Given the description of an element on the screen output the (x, y) to click on. 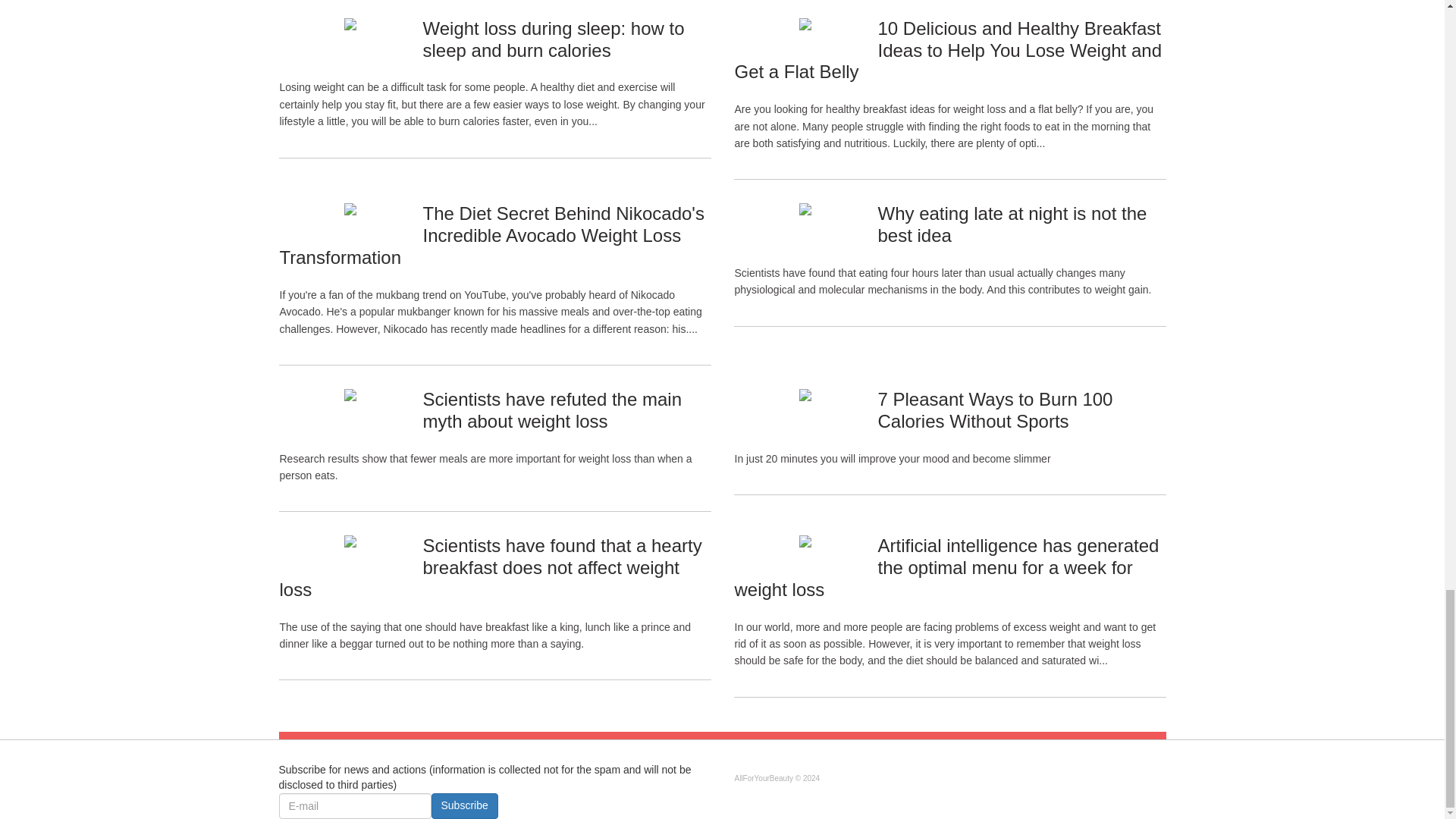
Scientists have refuted the main myth about weight loss (551, 410)
Weight loss during sleep: how to sleep and burn calories (553, 39)
7 Pleasant Ways to Burn 100 Calories Without Sports (994, 410)
